Given the description of an element on the screen output the (x, y) to click on. 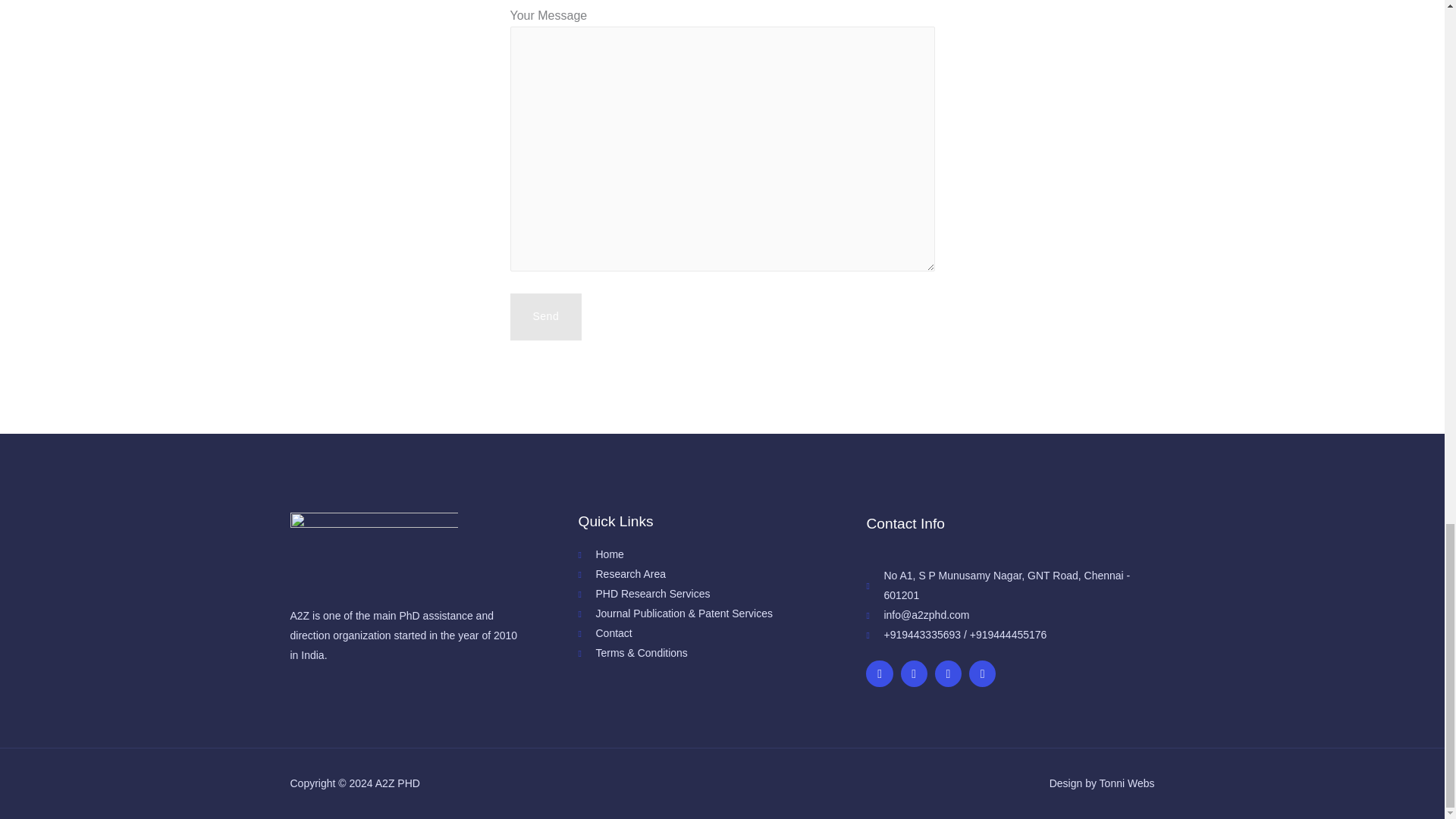
Send (544, 316)
No A1, S P Munusamy Nagar, GNT Road, Chennai - 601201 (1010, 586)
Send (544, 316)
Design by Tonni Webs (1101, 783)
Contact (722, 633)
PHD Research Services (722, 594)
Research Area (722, 574)
Home (722, 555)
